Given the description of an element on the screen output the (x, y) to click on. 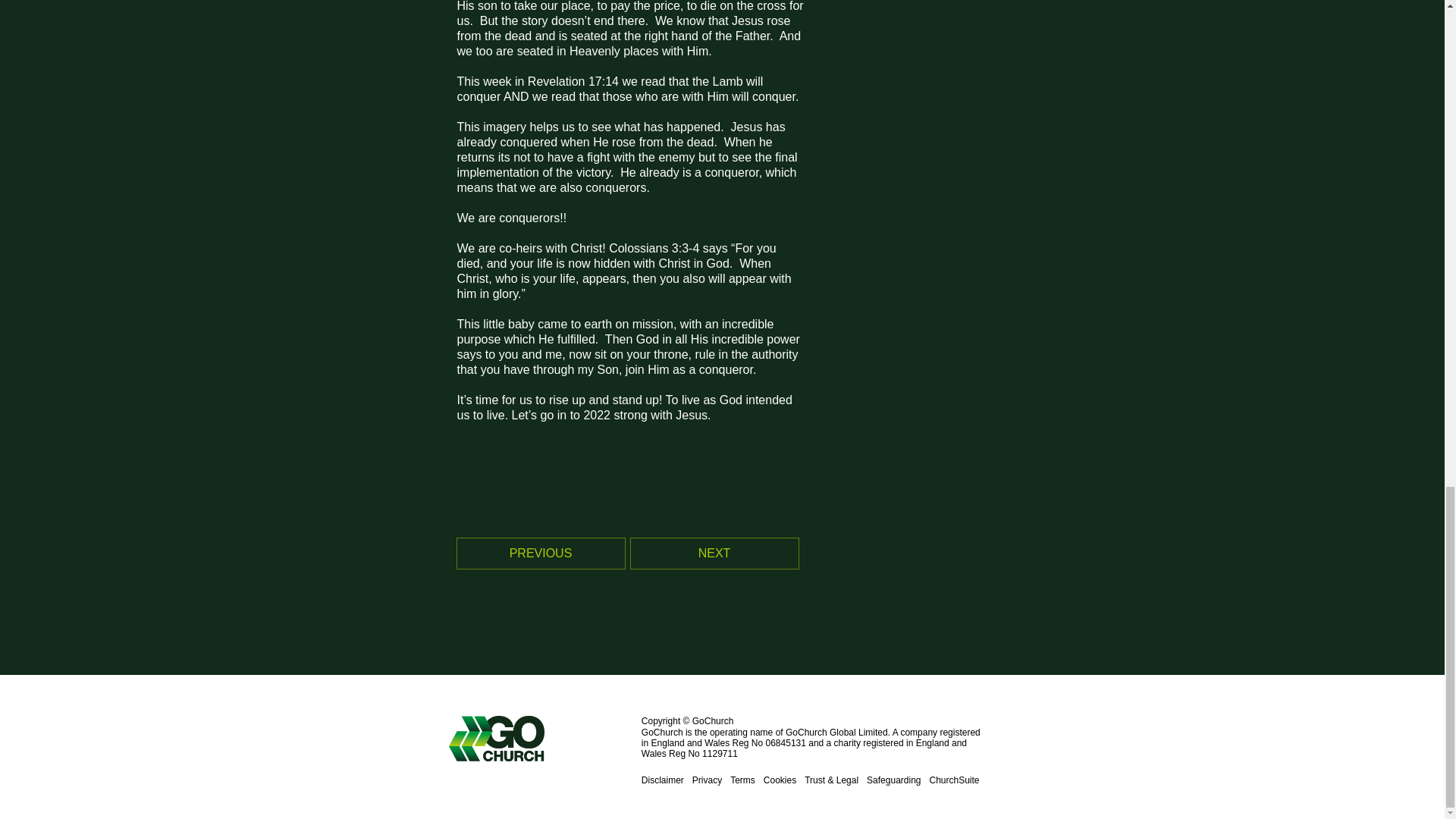
Privacy (707, 779)
ChurchSuite (953, 779)
Cookies (779, 779)
Safeguarding (893, 779)
GoChurch logo (545, 738)
Terms (742, 779)
Disclaimer (663, 779)
PREVIOUS (540, 553)
NEXT (713, 553)
